Given the description of an element on the screen output the (x, y) to click on. 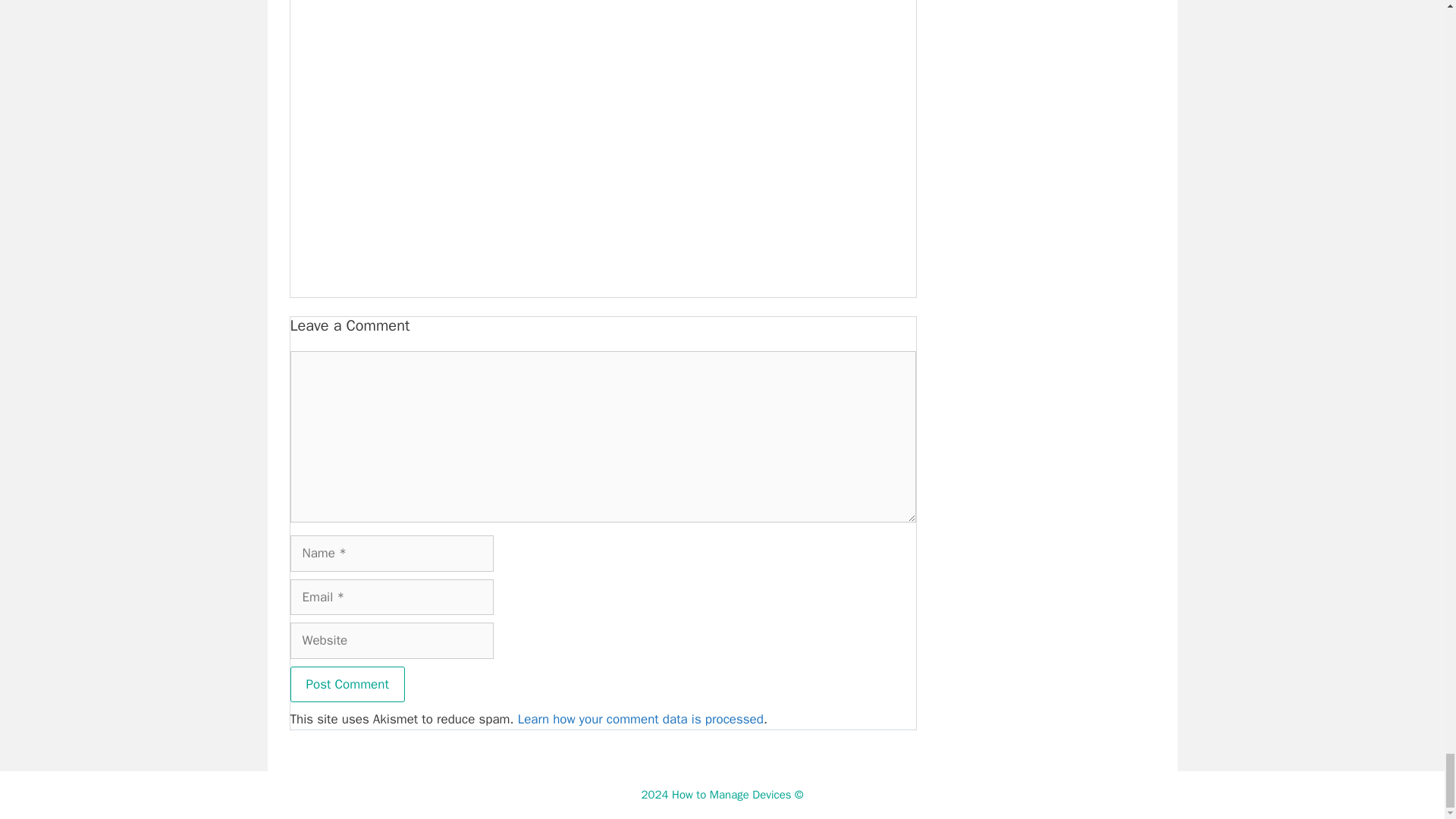
Learn how your comment data is processed (640, 719)
Post Comment (346, 684)
Post Comment (346, 684)
